Given the description of an element on the screen output the (x, y) to click on. 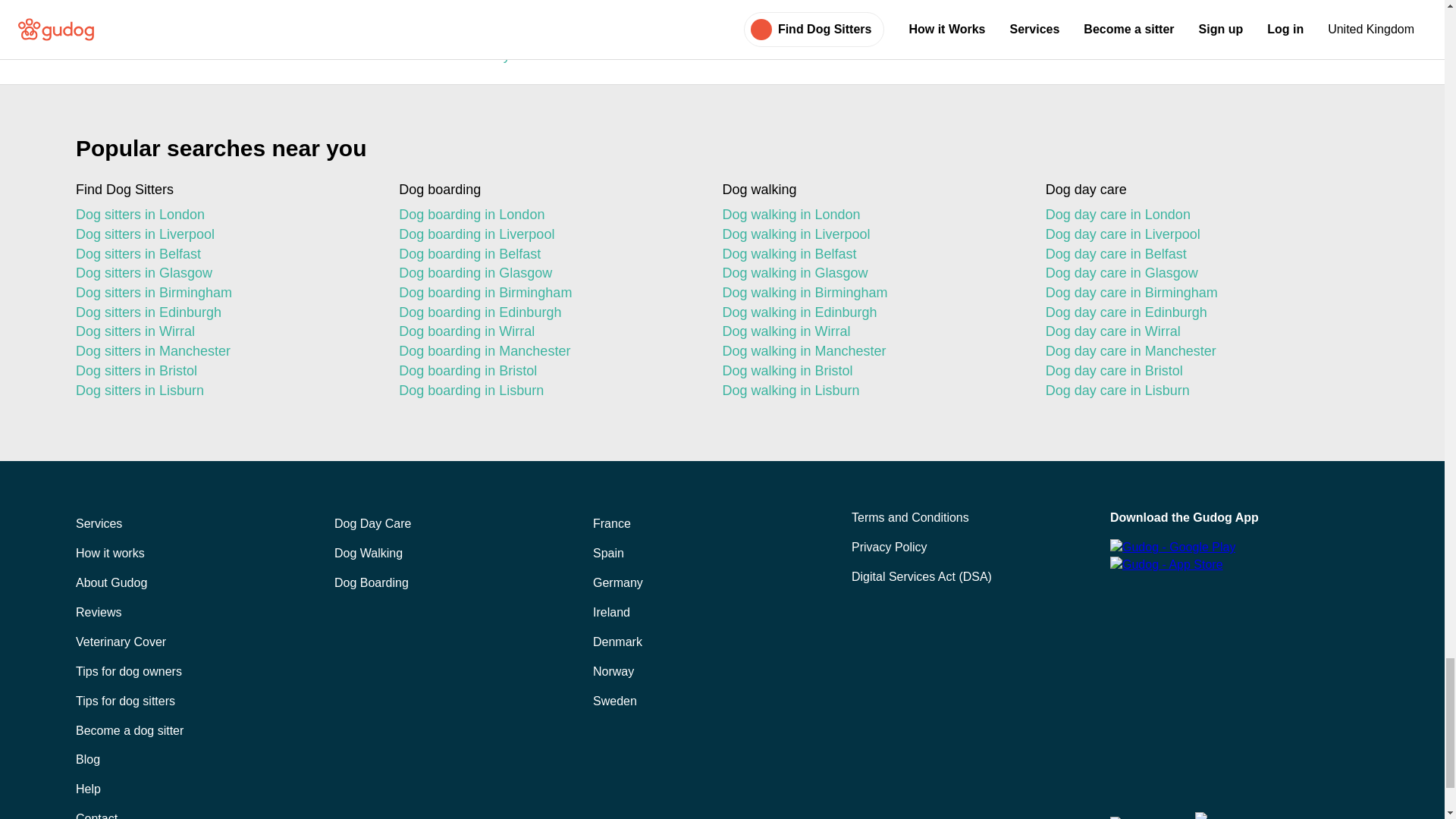
Dog sitters in London (224, 215)
Dog boarding Highgate (421, 11)
Dog sitters in Belfast (224, 254)
Dog boarding Walsall District (421, 37)
Dog sitters in London (224, 215)
Dog sitters in Liverpool (224, 234)
